Given the description of an element on the screen output the (x, y) to click on. 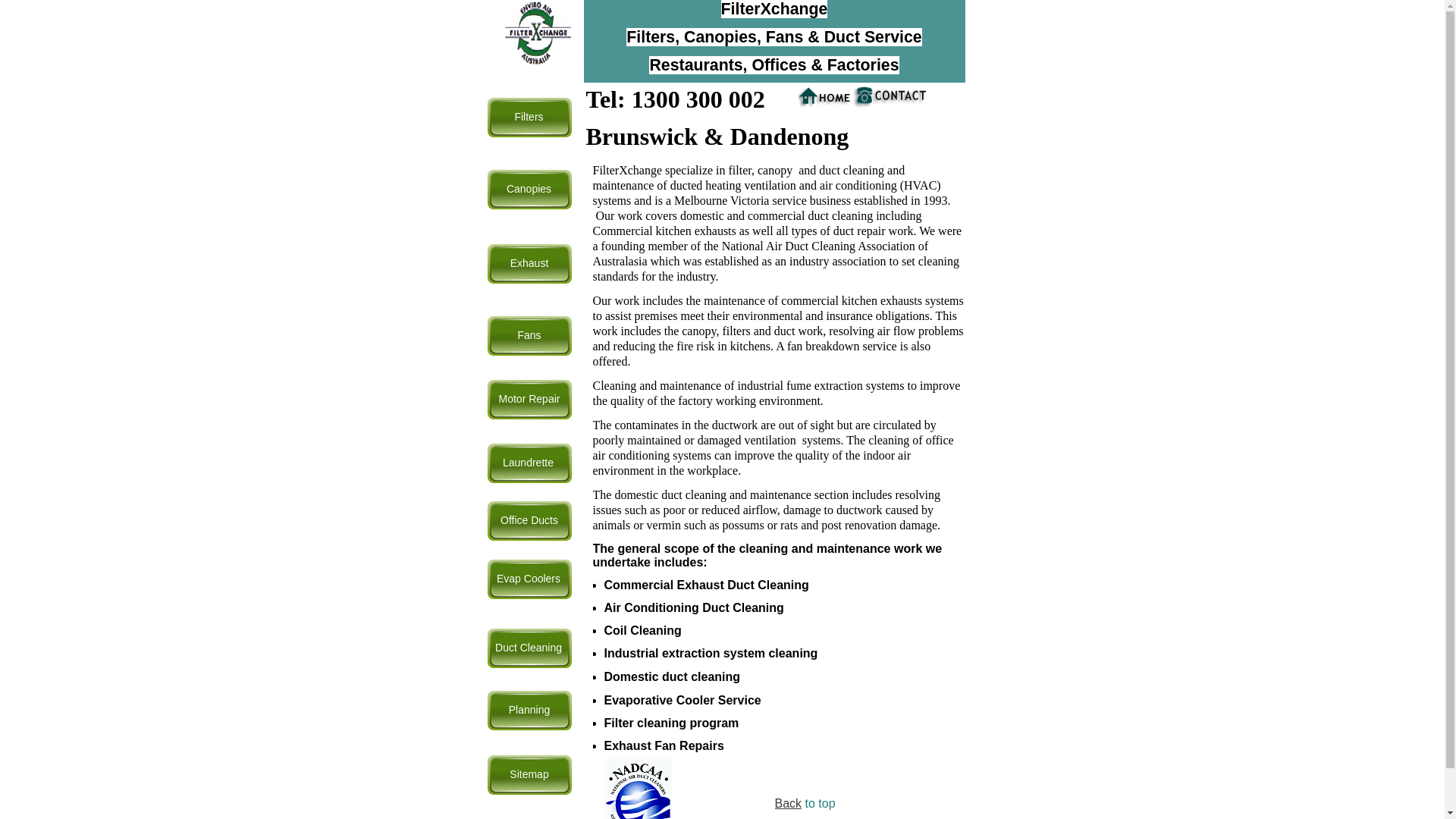
Office Ducts Element type: text (528, 520)
Fans Element type: text (528, 335)
Canopies Element type: text (528, 189)
Filters Element type: text (528, 117)
Sitemap Element type: text (528, 774)
Exhaust Element type: text (528, 263)
Evap Coolers Element type: text (528, 579)
Laundrette Element type: text (528, 463)
Planning Element type: text (528, 710)
Motor Repair Element type: text (528, 399)
Duct Cleaning Element type: text (528, 648)
Back Element type: text (788, 803)
